Given the description of an element on the screen output the (x, y) to click on. 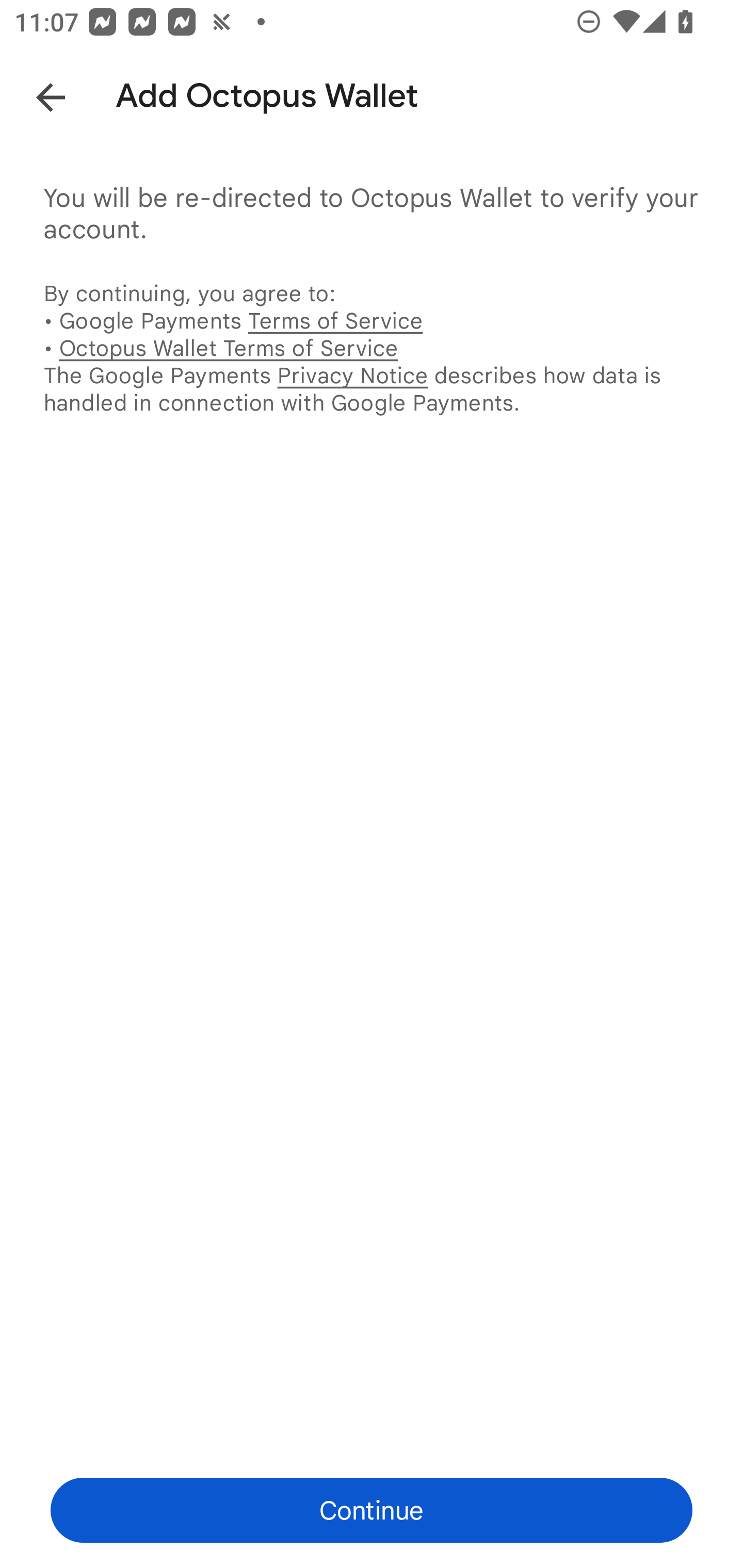
Back (36, 94)
Terms of Service (334, 320)
Octopus Wallet Terms of Service (227, 347)
Privacy Notice (352, 375)
Continue (371, 1510)
